Given the description of an element on the screen output the (x, y) to click on. 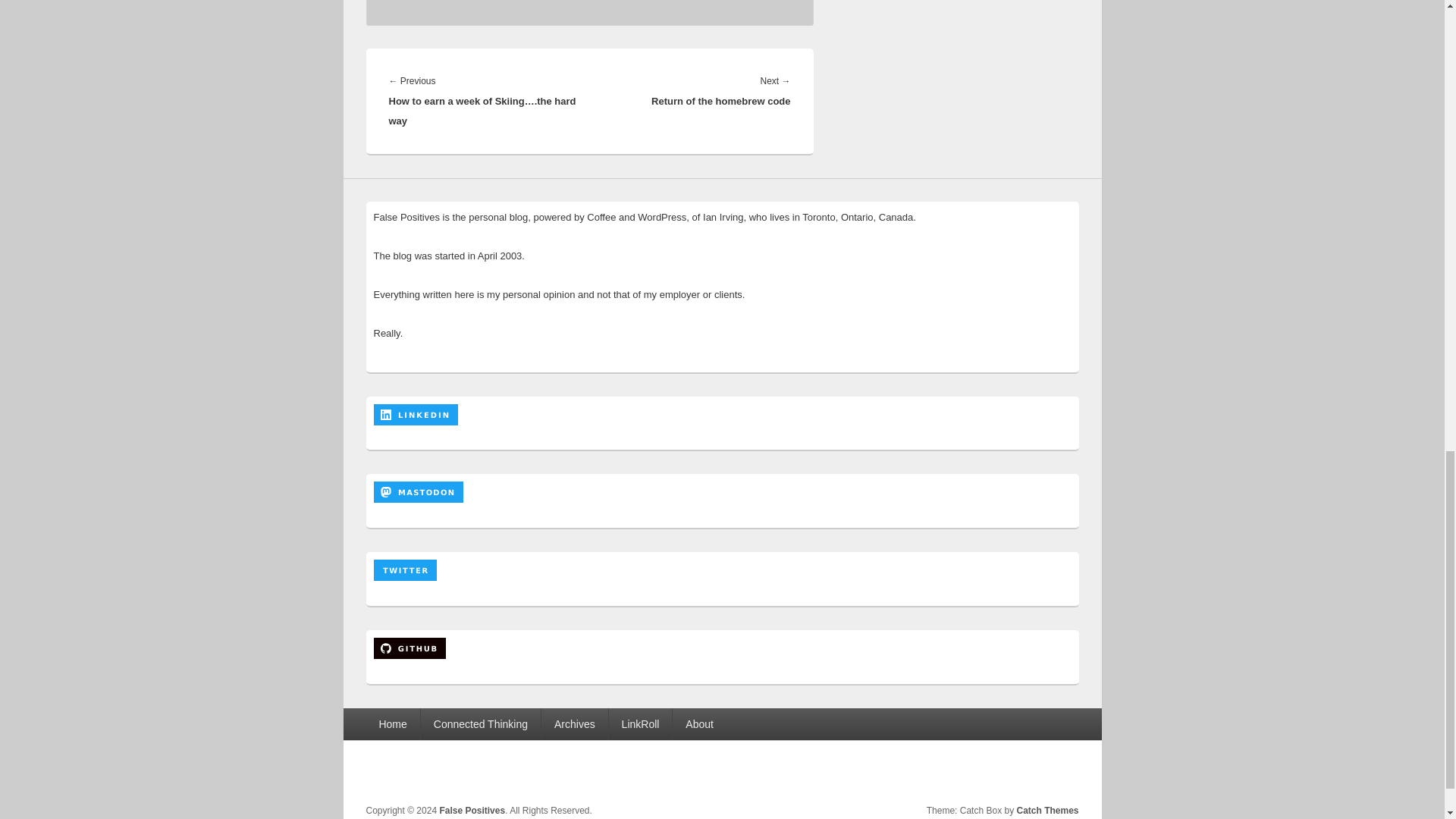
Archives (574, 724)
Home (392, 724)
Github (1065, 772)
About (699, 724)
Catch Themes (1047, 810)
Home (392, 724)
Connected Thinking (480, 724)
Connected Thinking (480, 724)
LinkRoll (640, 724)
False Positives (472, 810)
